Given the description of an element on the screen output the (x, y) to click on. 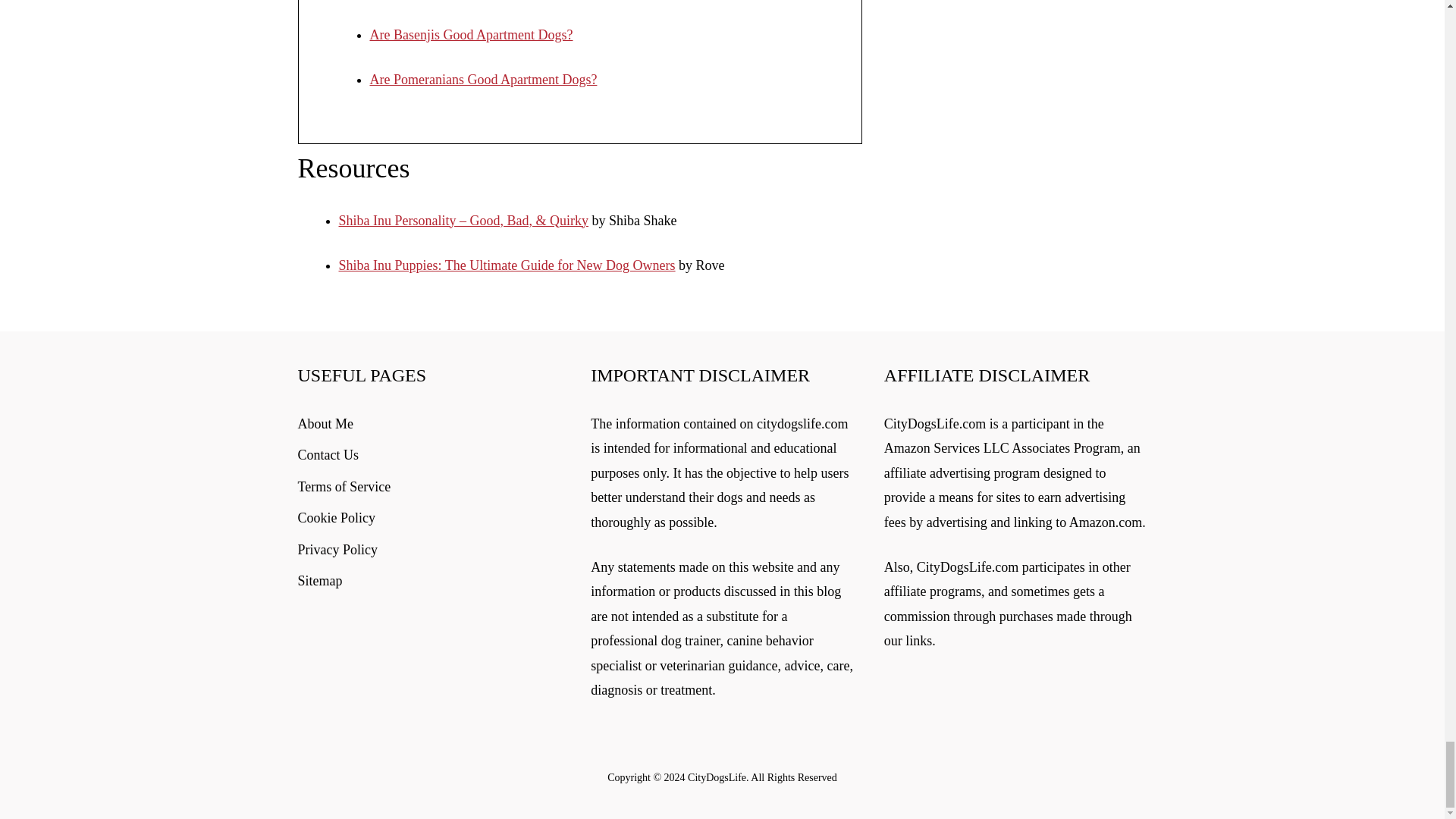
Are Basenjis Good Apartment Dogs? (471, 34)
Are Pomeranians Good Apartment Dogs? (482, 79)
